Given the description of an element on the screen output the (x, y) to click on. 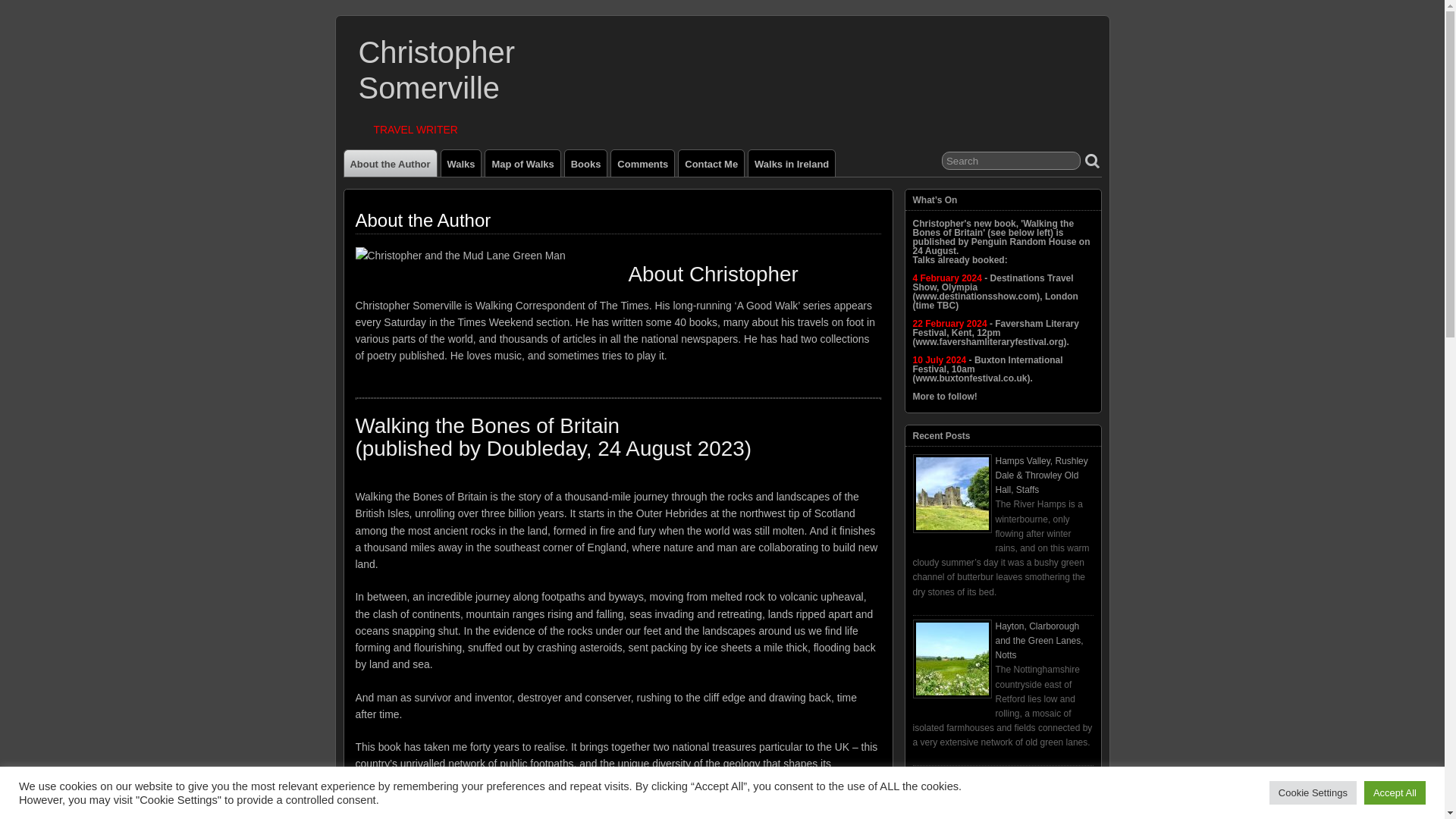
Cookie Settings (1312, 792)
Buckden Beck and Buckden Pike, Wharfedale, N. Yorks (1037, 790)
Map of Walks (521, 162)
Walks (461, 162)
Christopher Somerville (436, 70)
Accept All (1394, 792)
About the Author (389, 162)
Hayton, Clarborough and the Green Lanes, Notts (1038, 640)
Search (1011, 160)
Contact Me (711, 162)
